Given the description of an element on the screen output the (x, y) to click on. 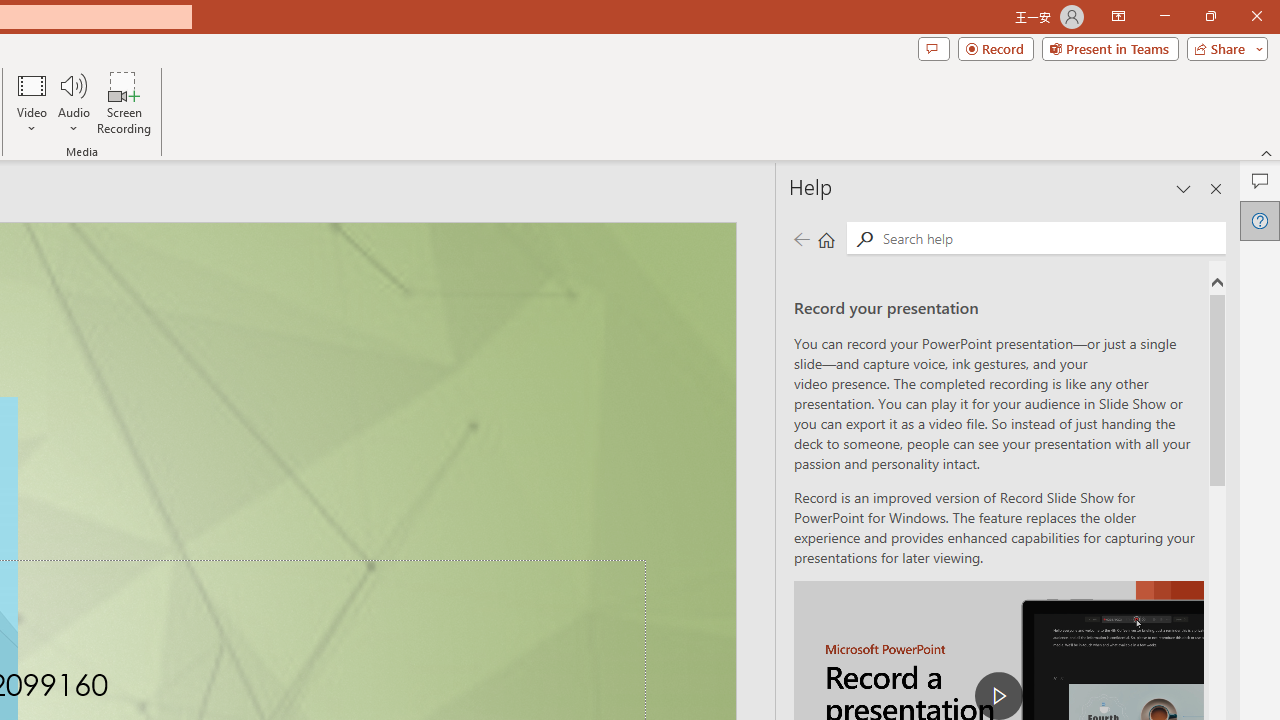
Video (31, 102)
